Given the description of an element on the screen output the (x, y) to click on. 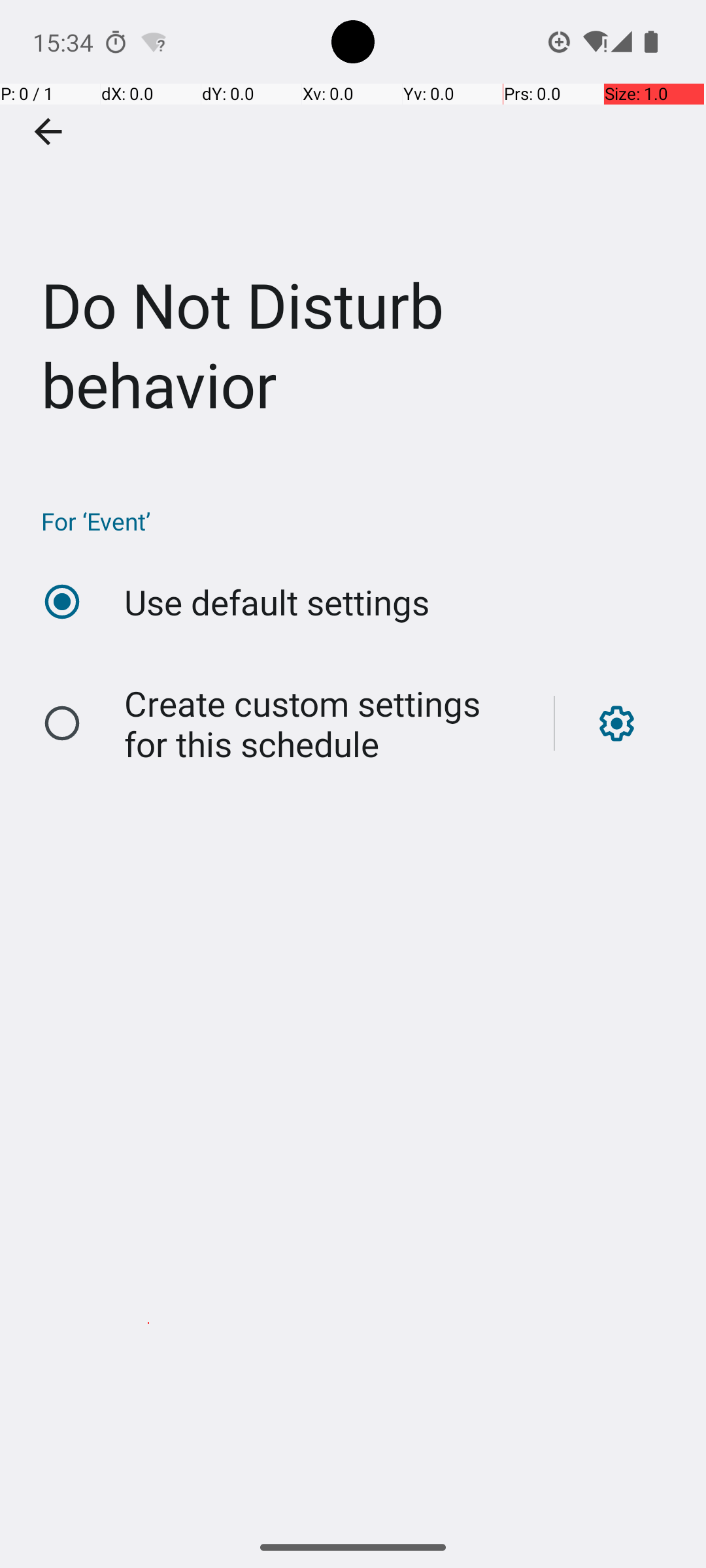
Do Not Disturb behavior Element type: android.widget.FrameLayout (353, 231)
For ‘Event’ Element type: android.widget.TextView (359, 520)
Use default settings Element type: android.widget.TextView (276, 601)
Create custom settings for this schedule Element type: android.widget.TextView (325, 723)
